Given the description of an element on the screen output the (x, y) to click on. 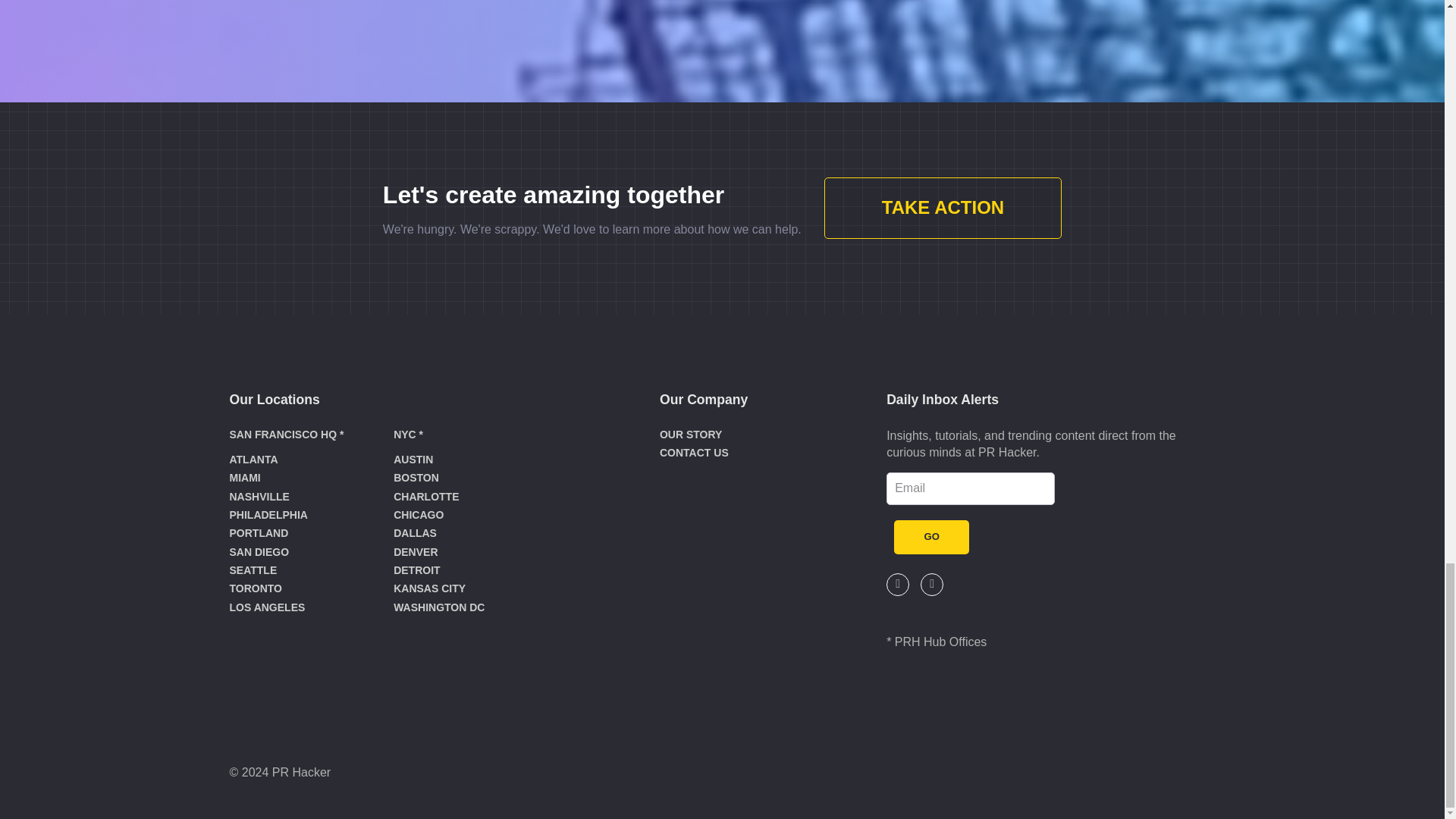
AUSTIN (412, 459)
MIAMI (244, 477)
TAKE ACTION (942, 209)
ATLANTA (253, 459)
BOSTON (416, 477)
TAKE ACTION (942, 208)
